Given the description of an element on the screen output the (x, y) to click on. 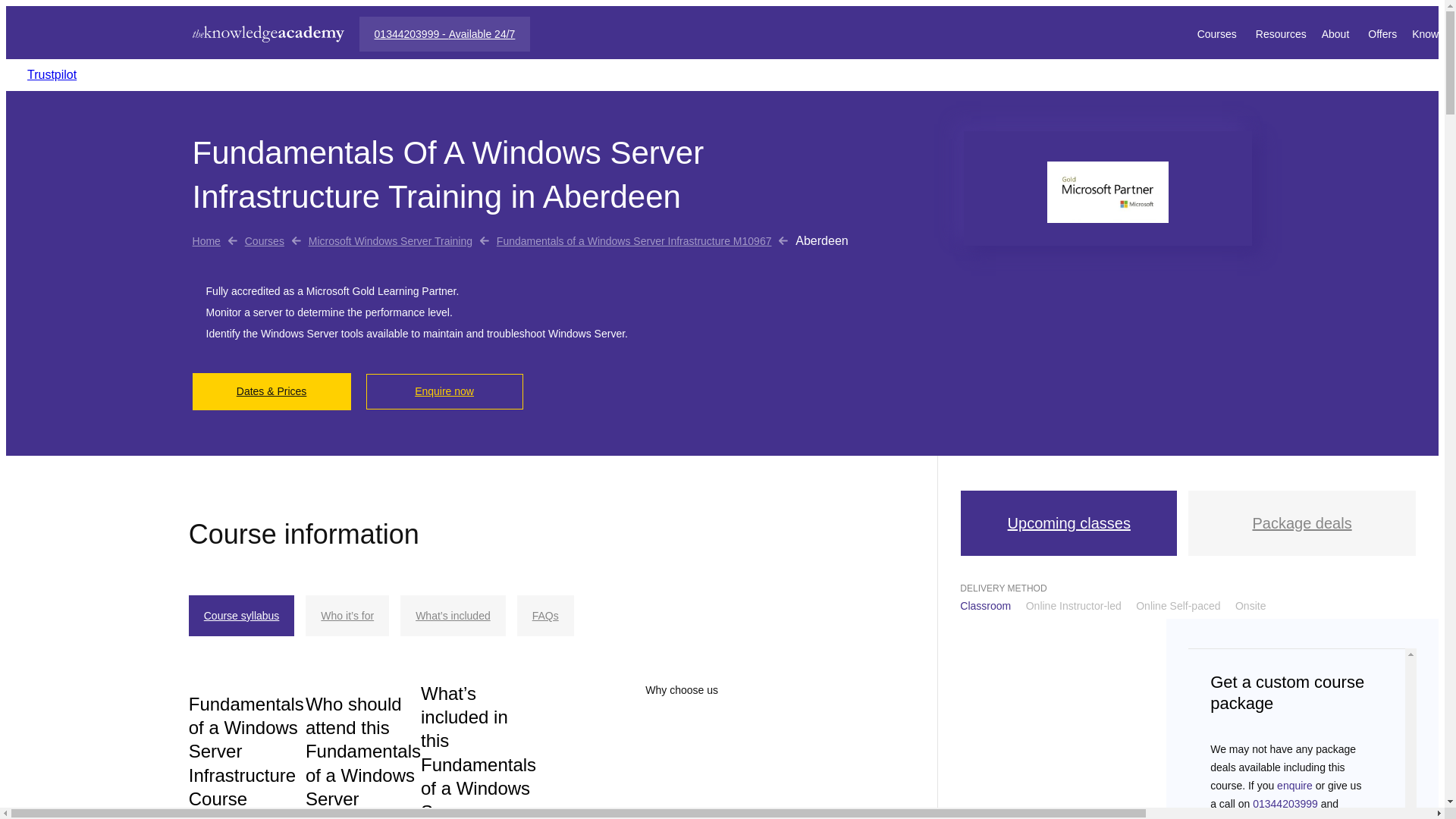
Enquire now (444, 391)
Home (206, 241)
Courses (1218, 33)
FAQs (544, 615)
Resources (1280, 33)
Microsoft Windows Server Training (389, 241)
Offers (1382, 33)
KnowledgePass (1434, 33)
Courses (263, 241)
Course syllabus (242, 615)
Fundamentals of a Windows Server Infrastructure M10967 (633, 241)
About (1338, 33)
Trustpilot (52, 74)
